Given the description of an element on the screen output the (x, y) to click on. 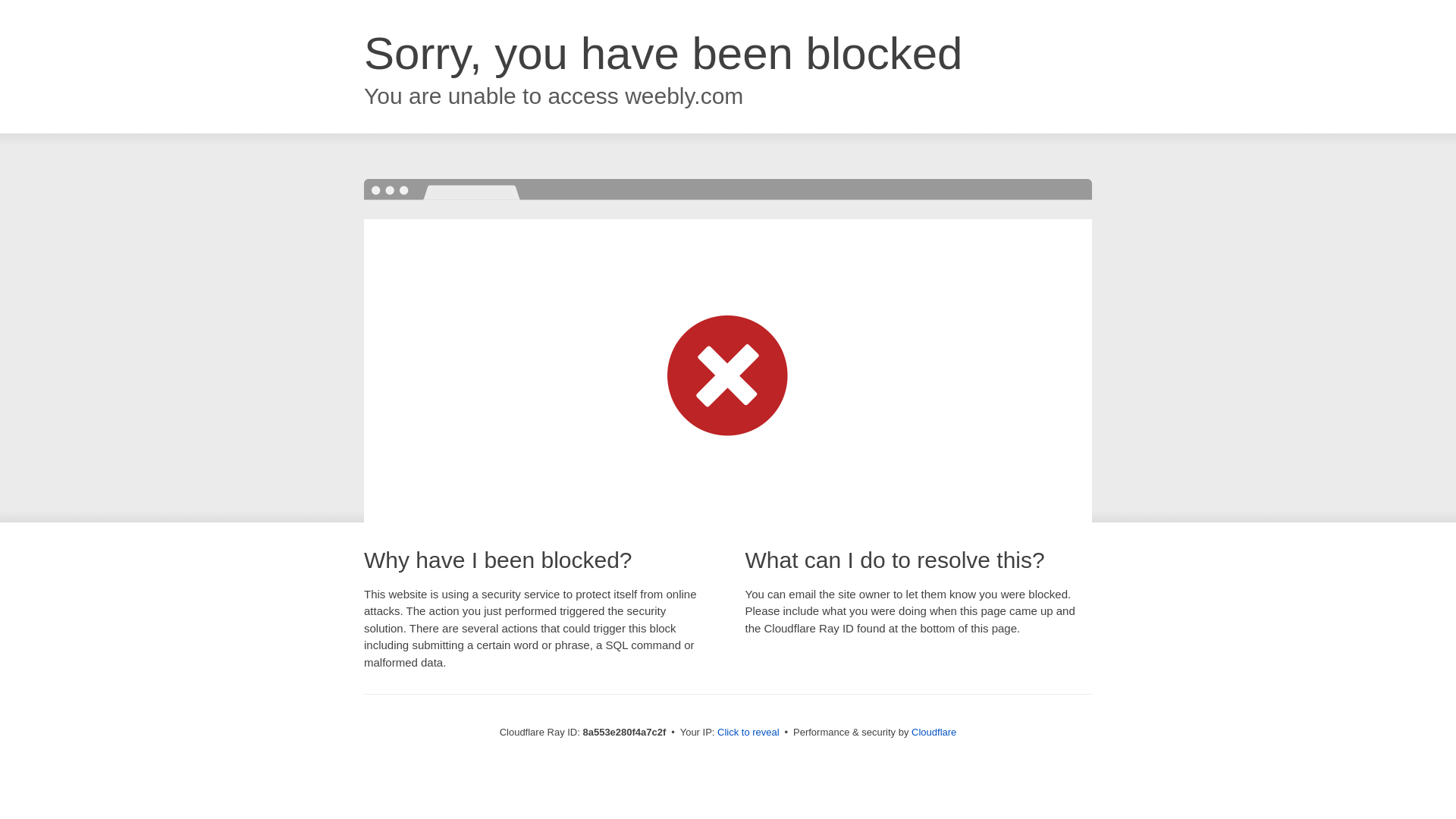
Click to reveal (747, 732)
Cloudflare (933, 731)
